Given the description of an element on the screen output the (x, y) to click on. 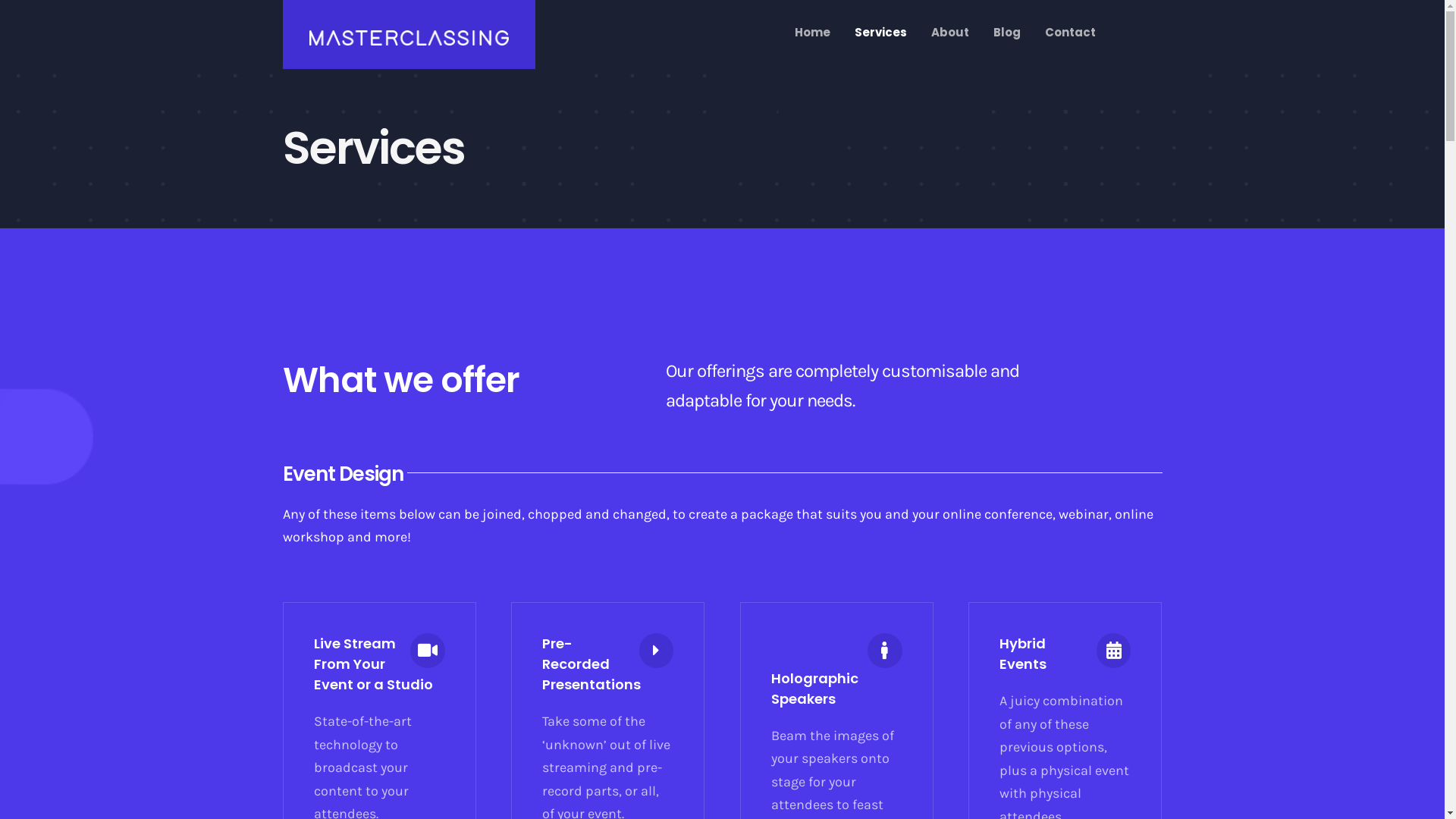
About Element type: text (950, 31)
Blog Element type: text (1006, 31)
Contact Element type: text (1069, 31)
Home Element type: text (812, 31)
Services Element type: text (880, 31)
